Given the description of an element on the screen output the (x, y) to click on. 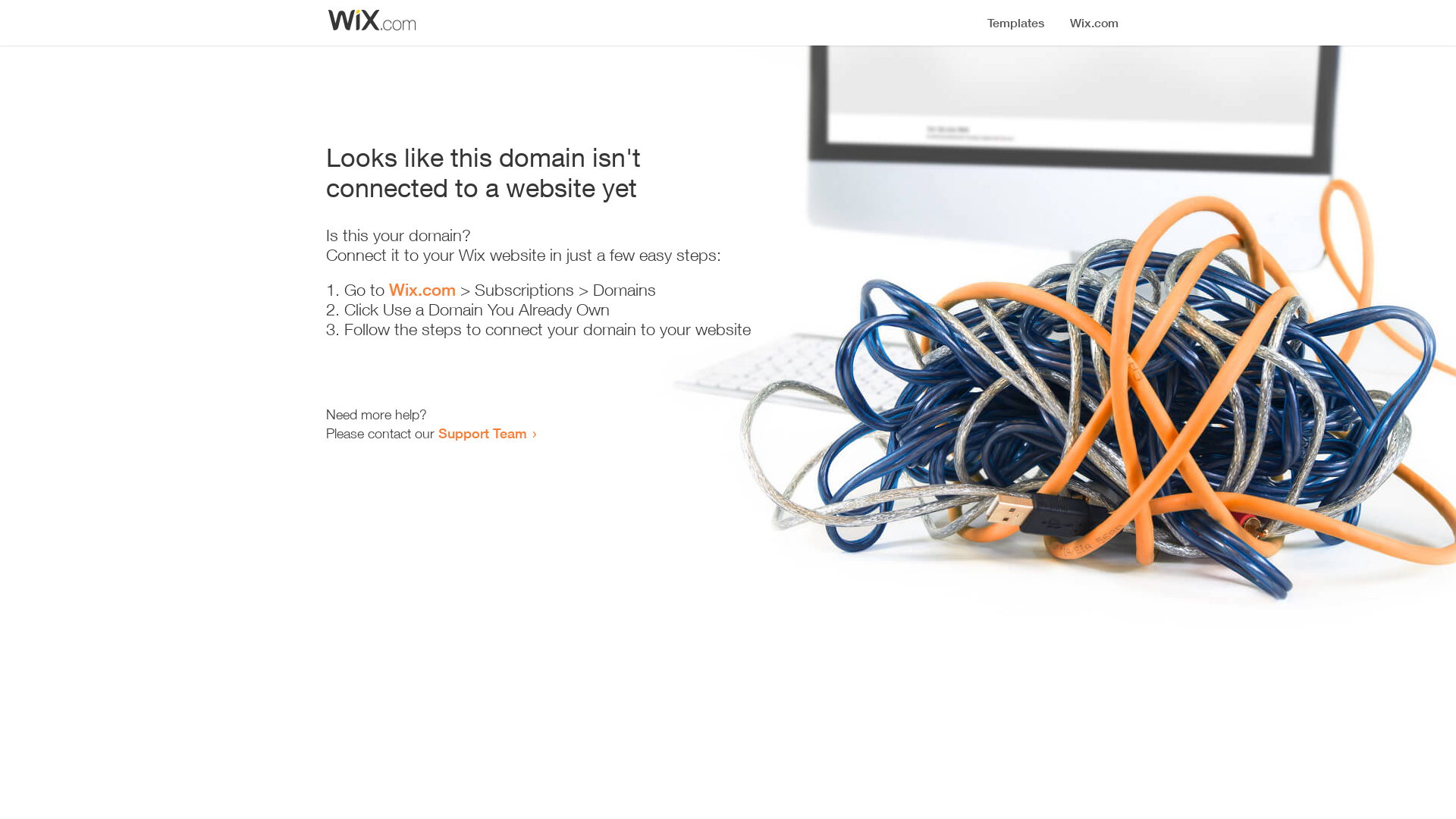
Wix.com Element type: text (422, 289)
Support Team Element type: text (482, 432)
